Given the description of an element on the screen output the (x, y) to click on. 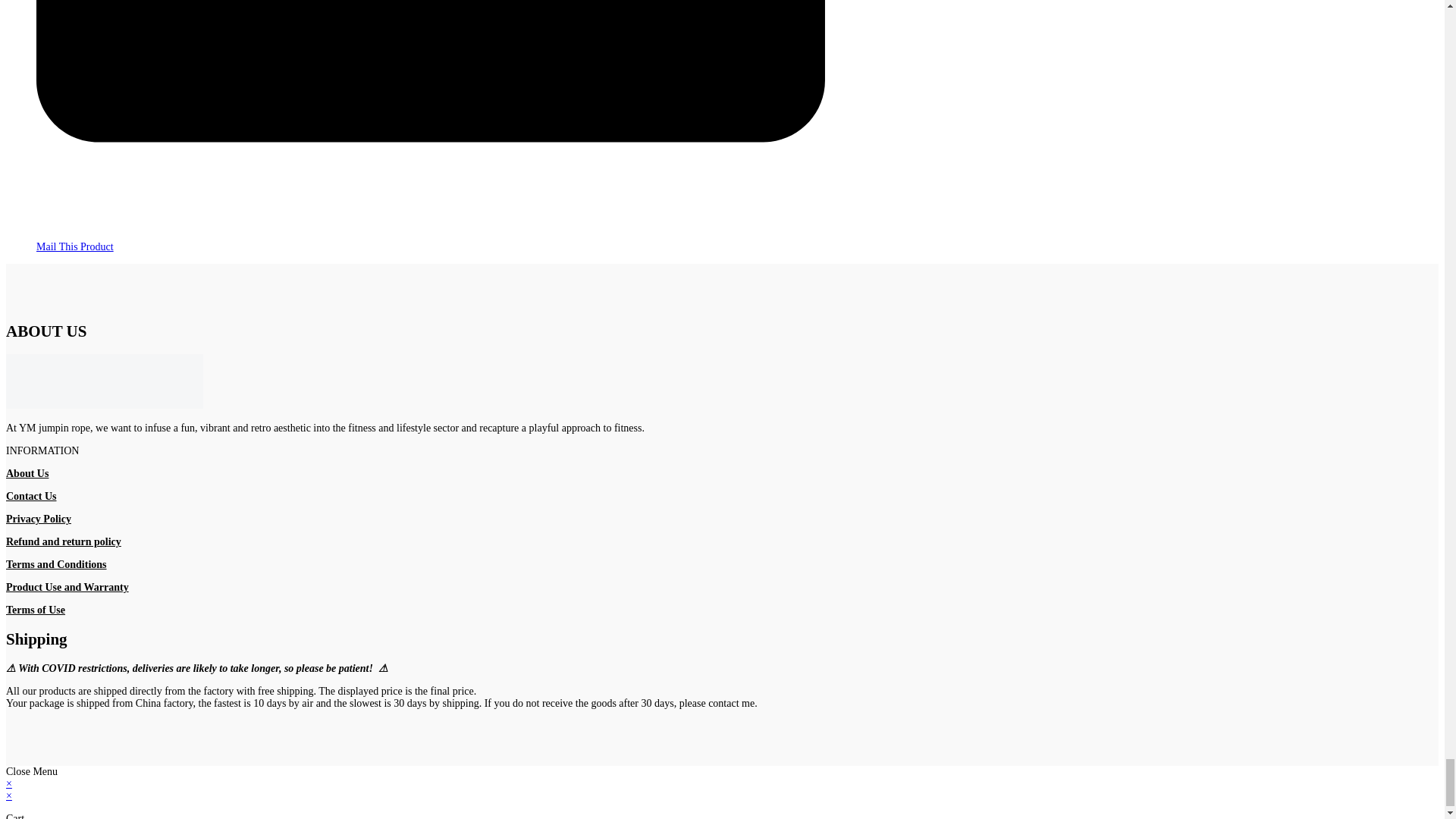
Product Use and Warranty (67, 586)
Terms and Conditions (55, 564)
Contact Us (30, 496)
Terms of Use (35, 609)
Close Menu (31, 771)
Privacy Policy (38, 518)
Refund and return policy (62, 541)
About Us (26, 473)
